Given the description of an element on the screen output the (x, y) to click on. 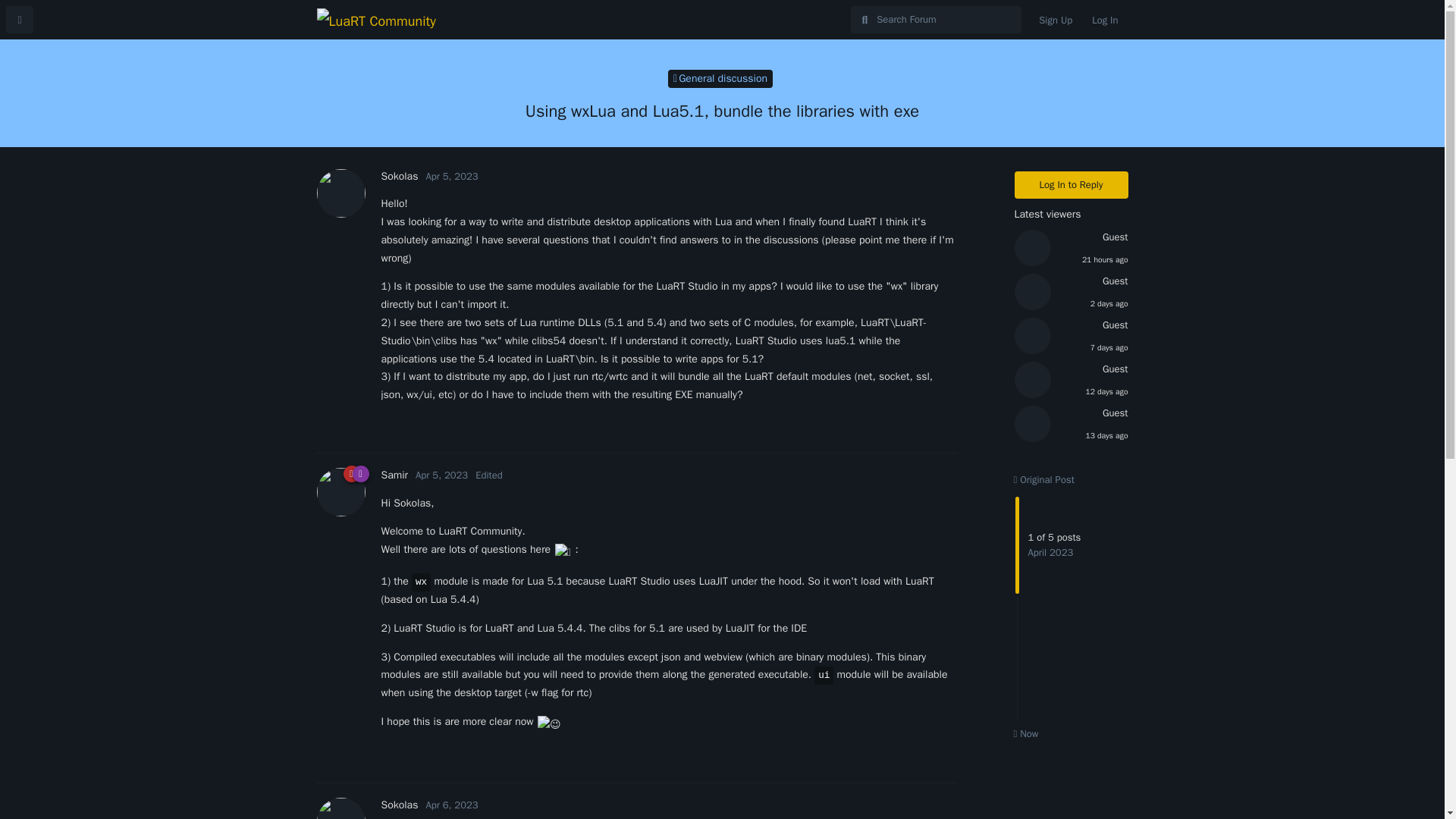
Apr 6, 2023 (451, 804)
Sokolas (398, 175)
Log In (1103, 19)
General discussion (720, 78)
General discussion forum for LuaRT (720, 78)
Original Post (1043, 479)
Log In to Reply (1071, 185)
Sokolas (398, 804)
Samir (393, 474)
Thursday, April 6, 2023 5:22 PM (451, 804)
